Given the description of an element on the screen output the (x, y) to click on. 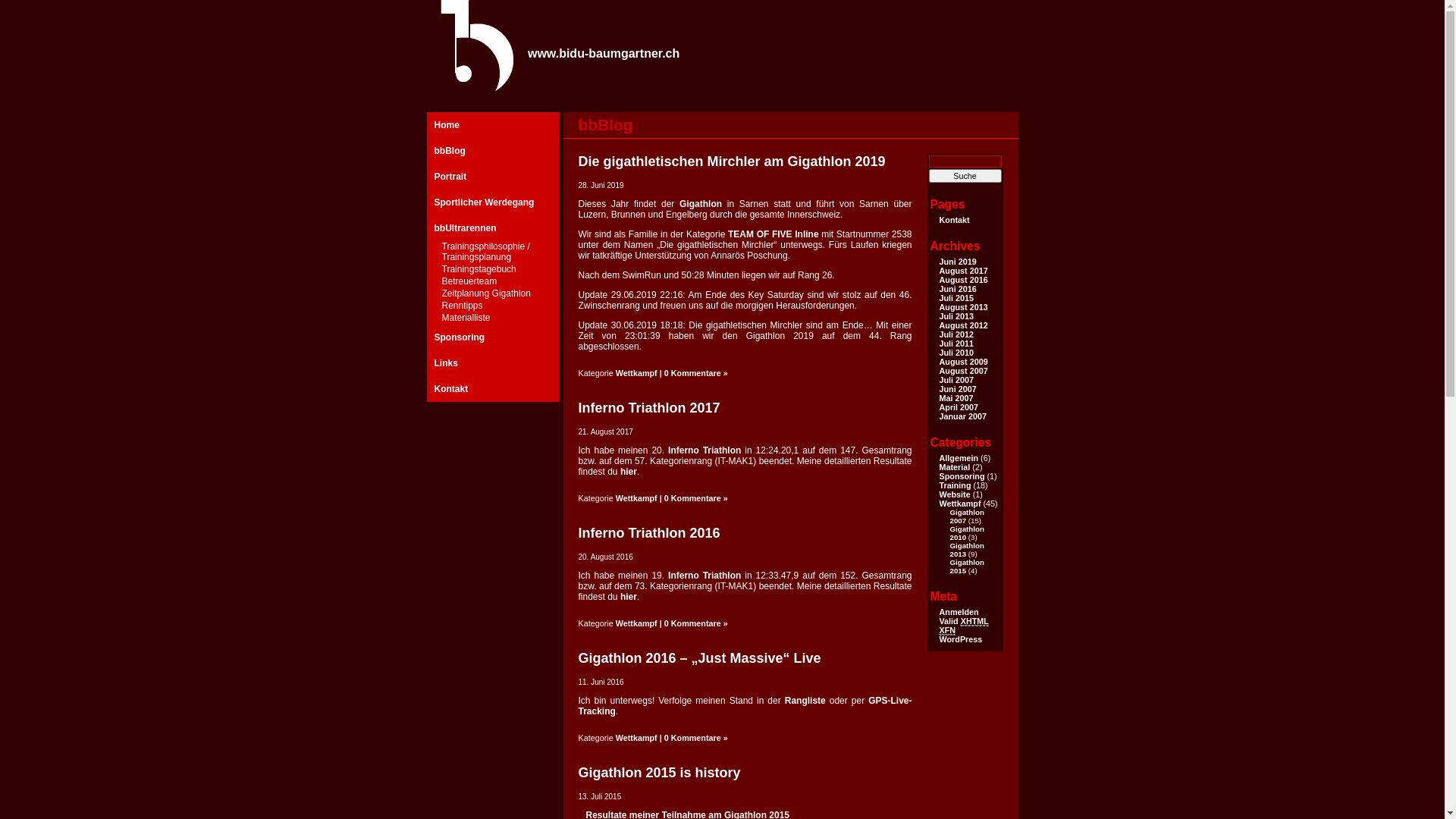
Januar 2007 Element type: text (961, 415)
Juli 2011 Element type: text (955, 343)
Rangliste Element type: text (804, 700)
Zeitplanung Gigathlon Element type: text (492, 294)
Wettkampf Element type: text (959, 503)
Die gigathletischen Mirchler am Gigathlon 2019 Element type: text (730, 161)
Training Element type: text (954, 484)
August 2013 Element type: text (962, 306)
Valid XHTML Element type: text (963, 621)
Kontakt Element type: text (953, 219)
April 2007 Element type: text (958, 406)
Home Element type: text (492, 125)
Wettkampf Element type: text (636, 497)
Betreuerteam Element type: text (492, 282)
Inferno Triathlon 2017 Element type: text (648, 407)
Gigathlon 2015 Element type: text (966, 566)
Links Element type: text (492, 363)
Portrait Element type: text (492, 176)
Gigathlon 2013 Element type: text (966, 549)
Wettkampf Element type: text (636, 737)
Juli 2007 Element type: text (955, 379)
Material Element type: text (953, 466)
Juli 2013 Element type: text (955, 315)
Mai 2007 Element type: text (955, 397)
Wettkampf Element type: text (636, 622)
hier Element type: text (628, 596)
August 2009 Element type: text (962, 361)
Allgemein Element type: text (958, 457)
Wettkampf Element type: text (636, 372)
August 2012 Element type: text (962, 324)
August 2017 Element type: text (962, 270)
Inferno Triathlon 2016 Element type: text (648, 532)
Gigathlon Element type: text (700, 203)
Juni 2019 Element type: text (956, 261)
Kontakt Element type: text (492, 388)
bbUltrarennen Element type: text (492, 228)
Trainingsphilosophie /
Trainingsplanung Element type: text (492, 252)
Juli 2012 Element type: text (955, 333)
Anmelden Element type: text (958, 611)
Sponsoring Element type: text (492, 337)
August 2007 Element type: text (962, 370)
Gigathlon 2015 is history Element type: text (658, 772)
Inferno Triathlon Element type: text (704, 450)
Juli 2010 Element type: text (955, 352)
XFN Element type: text (946, 630)
Website Element type: text (953, 493)
Sportlicher Werdegang Element type: text (492, 202)
Materialliste Element type: text (492, 318)
Juni 2016 Element type: text (956, 288)
TEAM OF FIVE Inline Element type: text (773, 234)
Juli 2015 Element type: text (955, 297)
hier Element type: text (628, 471)
bbBlog Element type: text (604, 124)
Suche Element type: text (964, 175)
WordPress Element type: text (960, 638)
www.bidu-baumgartner.ch Element type: text (603, 53)
Inferno Triathlon Element type: text (704, 575)
Gigathlon 2007 Element type: text (966, 516)
Juni 2007 Element type: text (956, 388)
Gigathlon 2010 Element type: text (966, 532)
Trainingstagebuch Element type: text (492, 269)
Renntipps Element type: text (492, 306)
GPS-Live-Tracking Element type: text (744, 705)
August 2016 Element type: text (962, 279)
bbBlog Element type: text (492, 150)
Sponsoring Element type: text (961, 475)
